Given the description of an element on the screen output the (x, y) to click on. 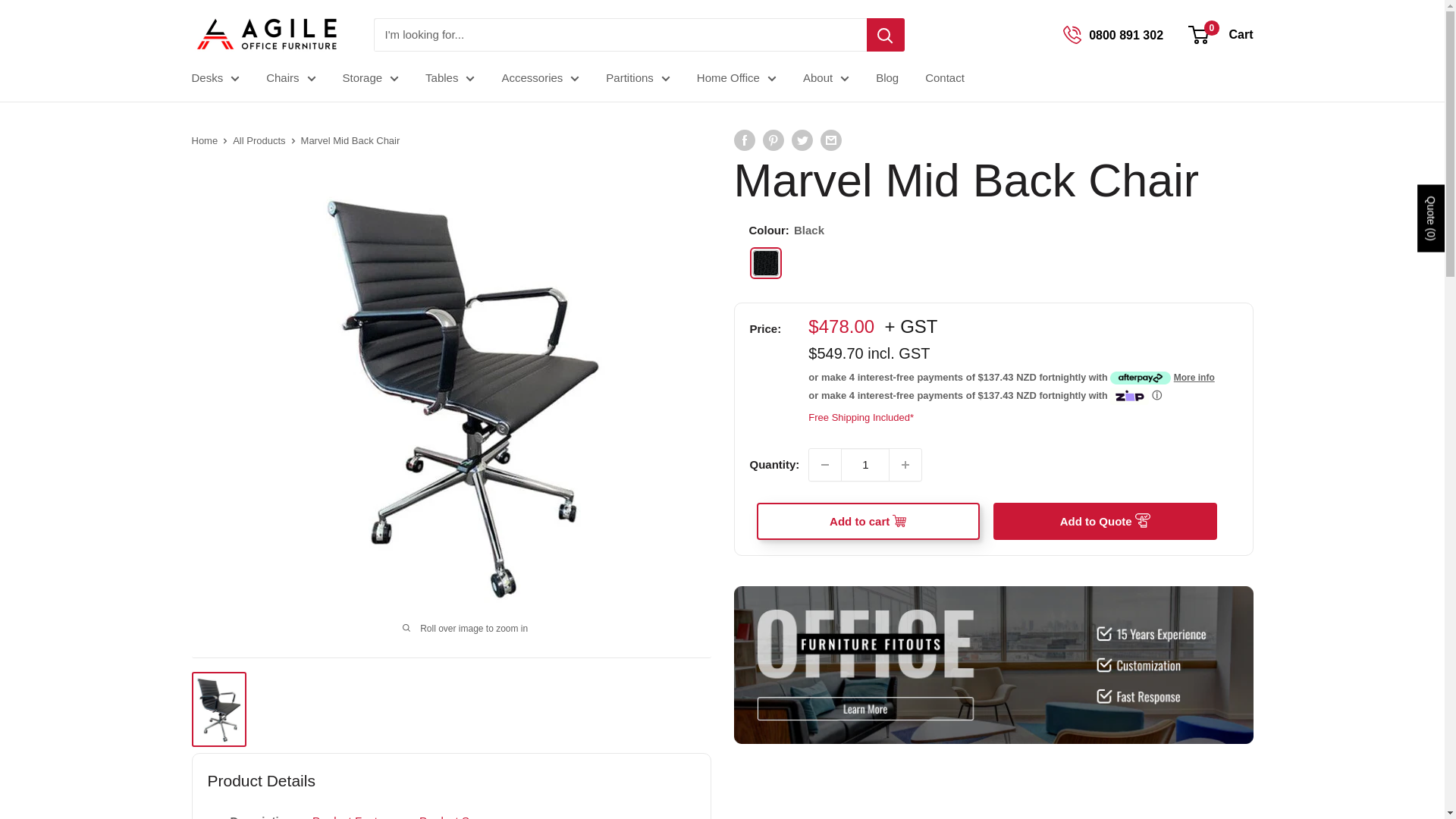
Black (765, 262)
tel:0800 891 302 (1126, 34)
Increase quantity by 1 (905, 464)
Decrease quantity by 1 (825, 464)
1 (865, 464)
tel:0800 891 302 (1071, 34)
